Given the description of an element on the screen output the (x, y) to click on. 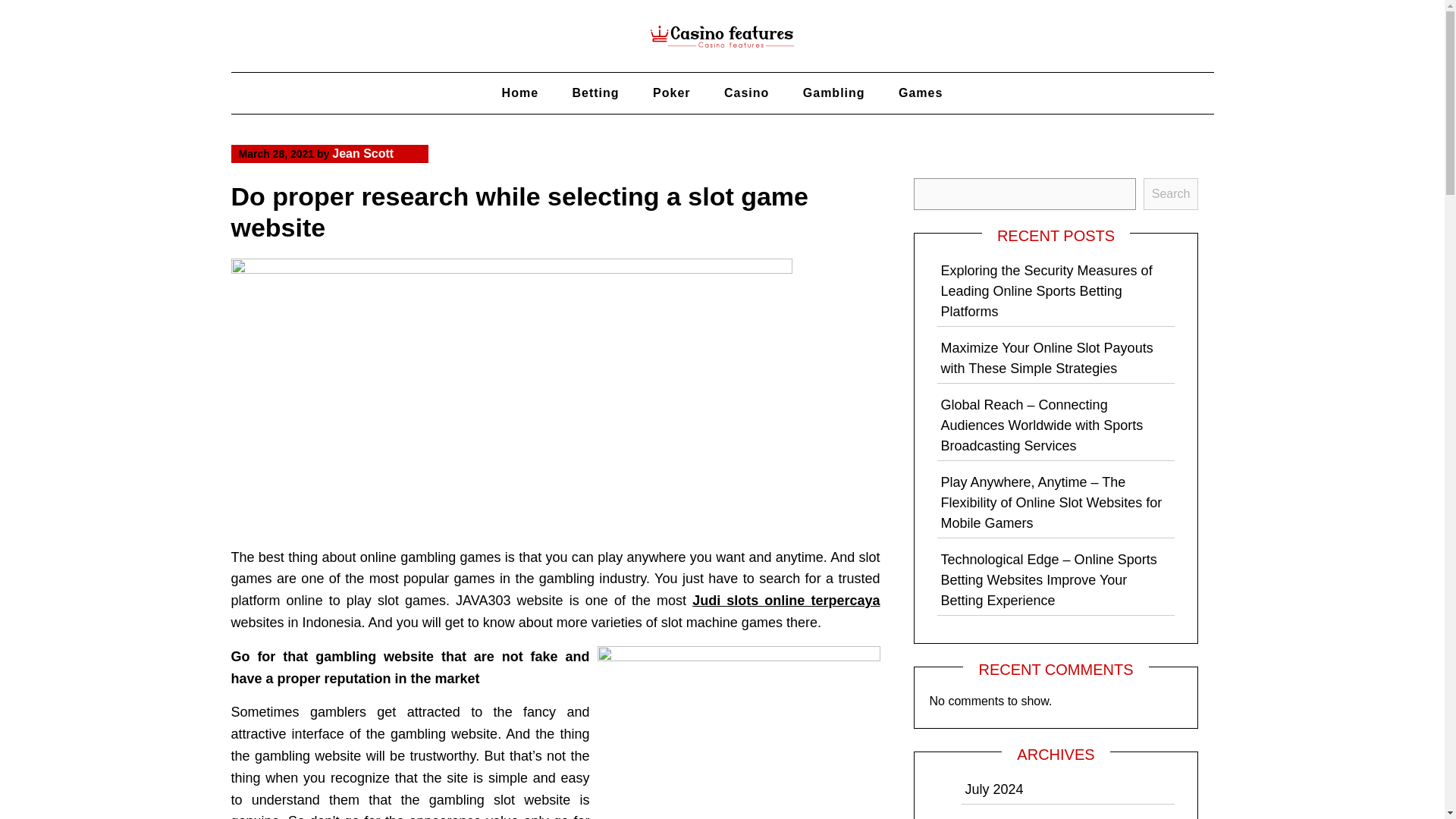
Betting (594, 92)
Games (920, 92)
Casino (746, 92)
Posts by Jean Scott (362, 153)
Judi slots online terpercaya (786, 600)
July 2024 (993, 789)
Gambling (833, 92)
Search (1170, 193)
Jean Scott (362, 153)
June 2024 (995, 818)
Home (519, 92)
Poker (670, 92)
